Given the description of an element on the screen output the (x, y) to click on. 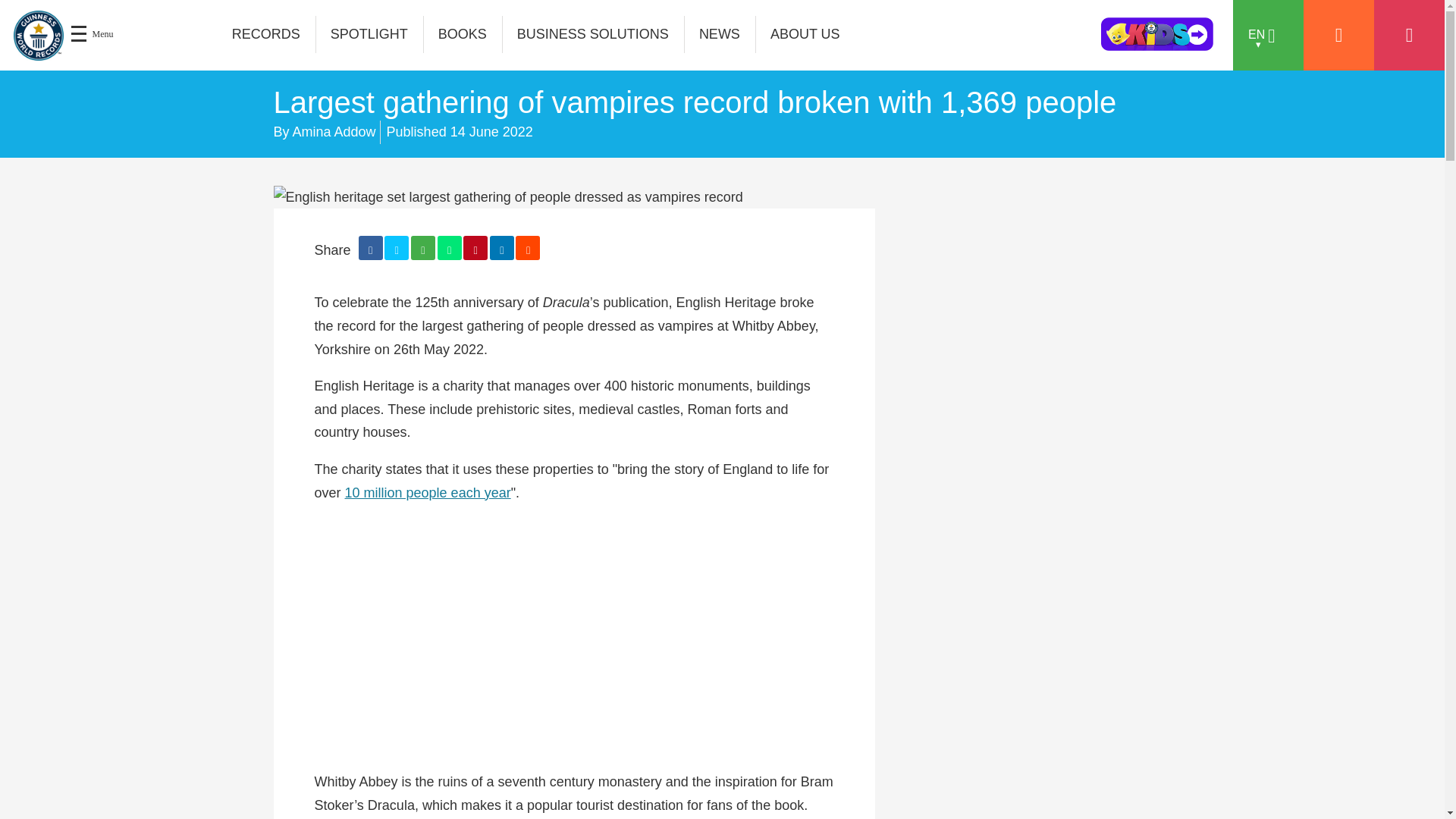
RECORDS (265, 34)
Select Language (1268, 35)
ABOUT US (805, 34)
EN (1268, 35)
YouTube video player (573, 636)
BOOKS (462, 34)
search (1029, 38)
NEWS (719, 34)
BUSINESS SOLUTIONS (593, 34)
Account (1338, 35)
